Given the description of an element on the screen output the (x, y) to click on. 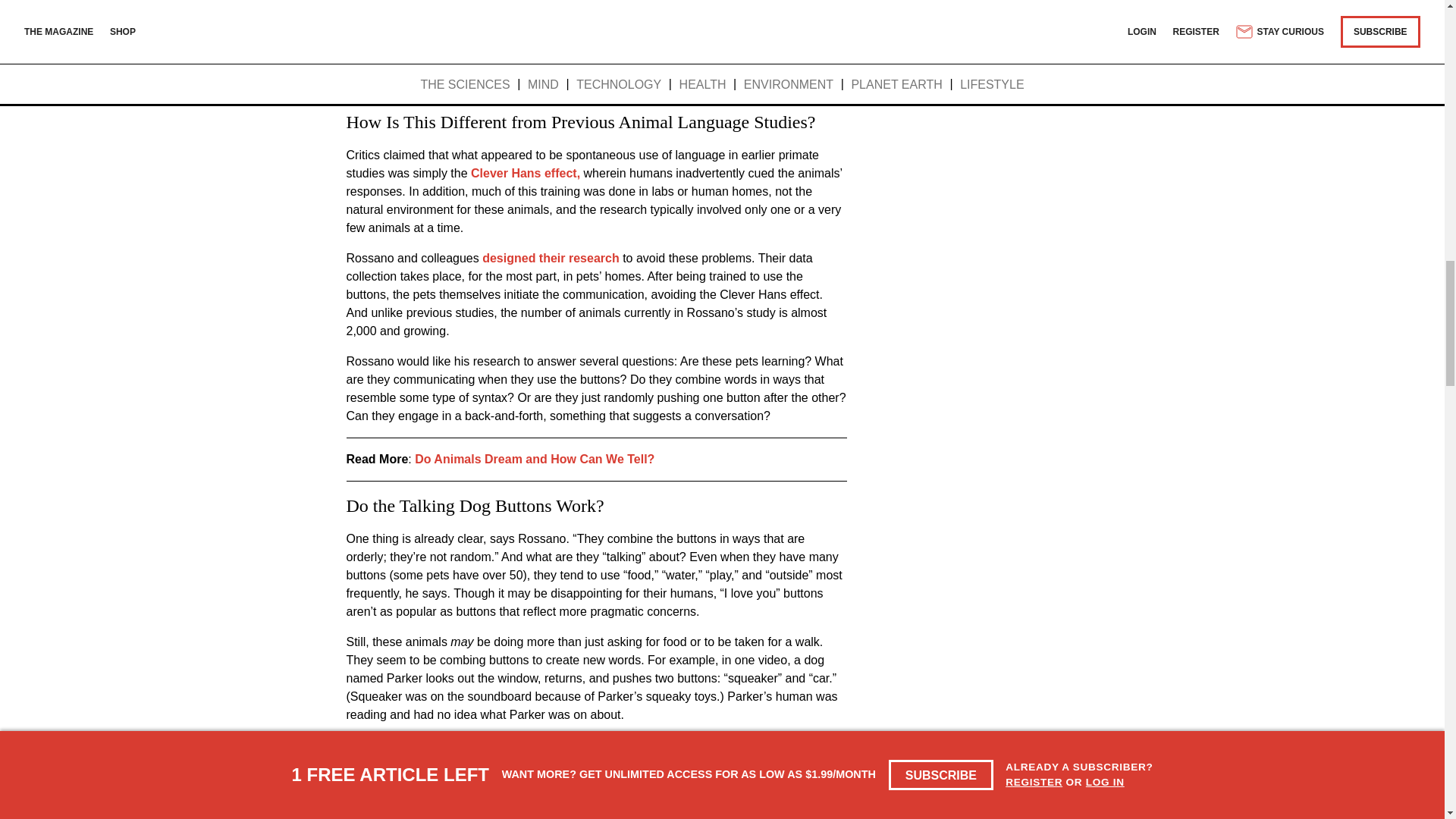
Clever Hans effect, (523, 173)
Do Animals Dream and How Can We Tell? (533, 459)
designed their research (549, 257)
